Given the description of an element on the screen output the (x, y) to click on. 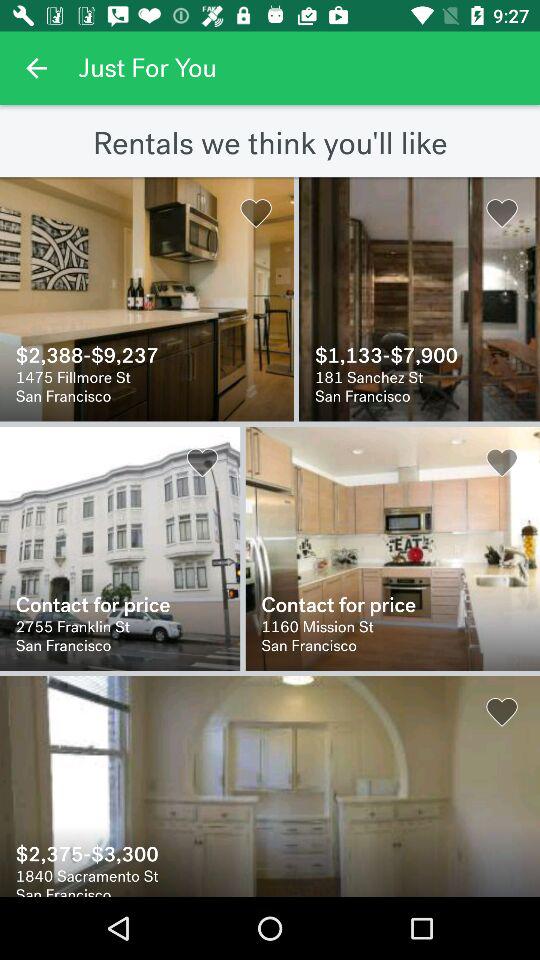
go to back page (36, 68)
